Given the description of an element on the screen output the (x, y) to click on. 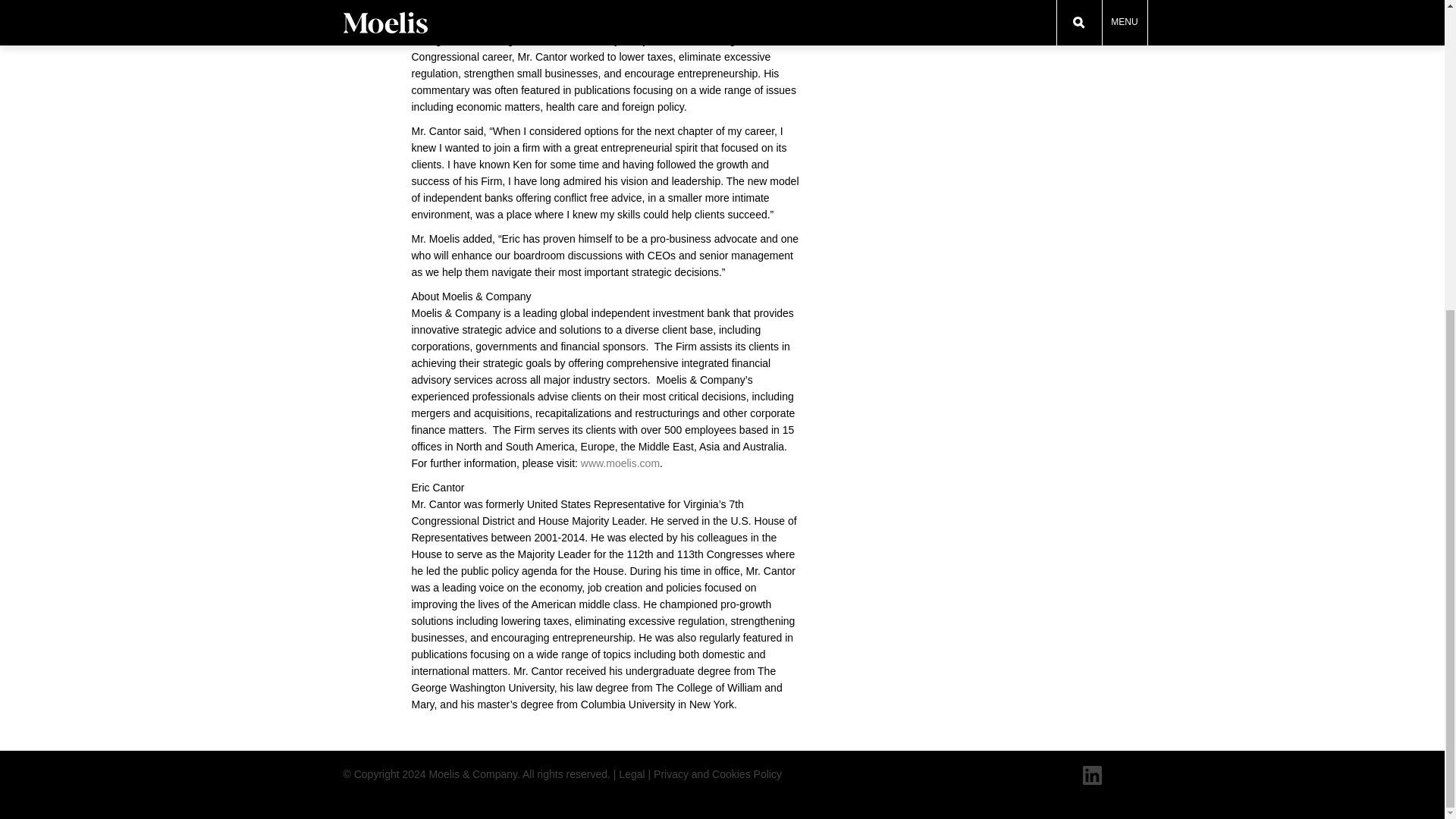
www.moelis.com (619, 463)
Legal (631, 774)
